Given the description of an element on the screen output the (x, y) to click on. 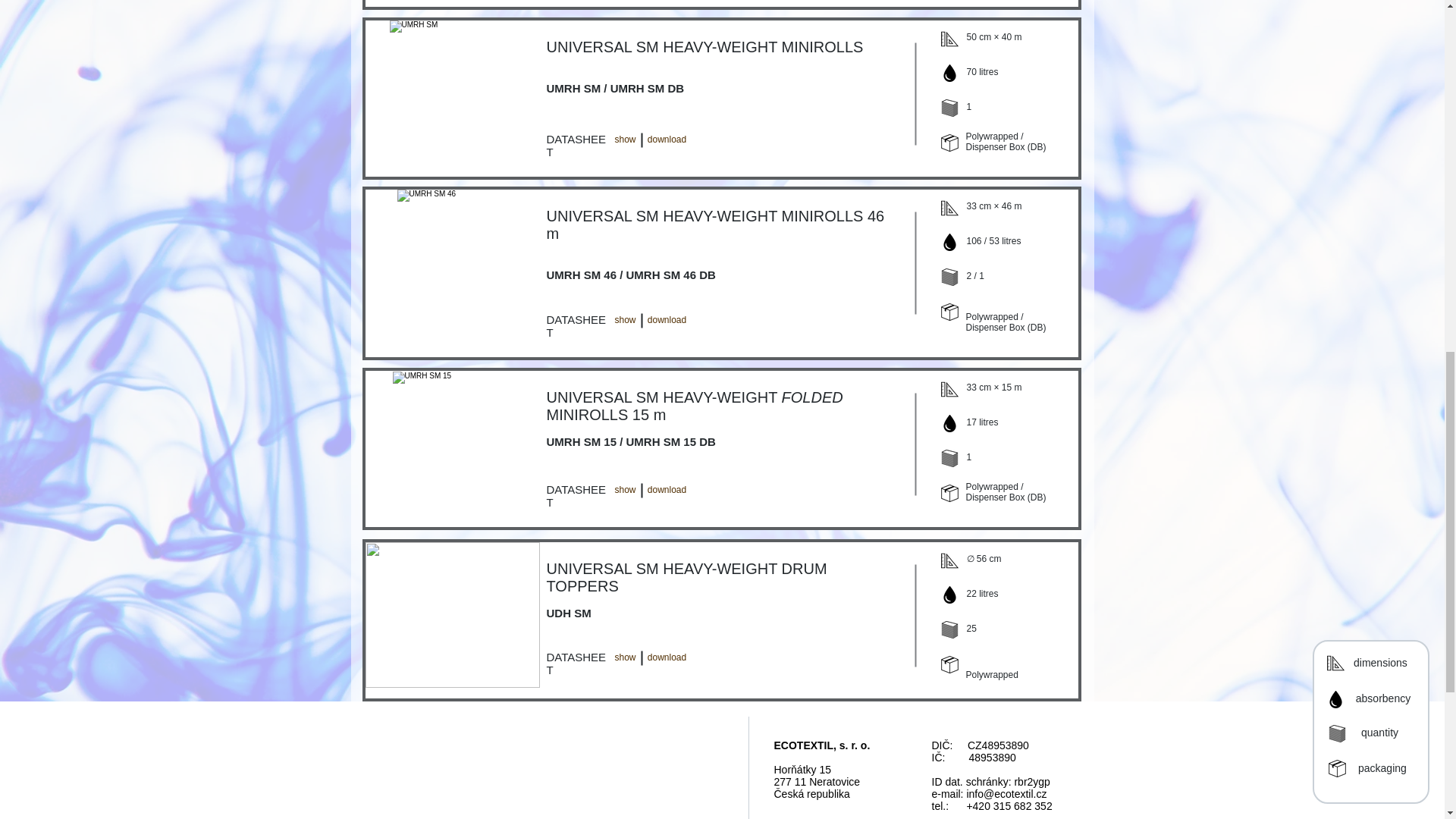
show (625, 140)
download (667, 657)
measuring-and-drawing-tools.png (949, 38)
stacked-print-products.png (949, 276)
stacked-print-products.png (949, 457)
measuring-and-drawing-tools.png (949, 389)
show (625, 320)
box-closed.png (949, 312)
drop-silhouette.png (949, 72)
download (667, 140)
box-closed.png (949, 142)
stacked-print-products.png (949, 108)
drop-silhouette.png (949, 241)
measuring-and-drawing-tools.png (949, 208)
show (625, 657)
